Given the description of an element on the screen output the (x, y) to click on. 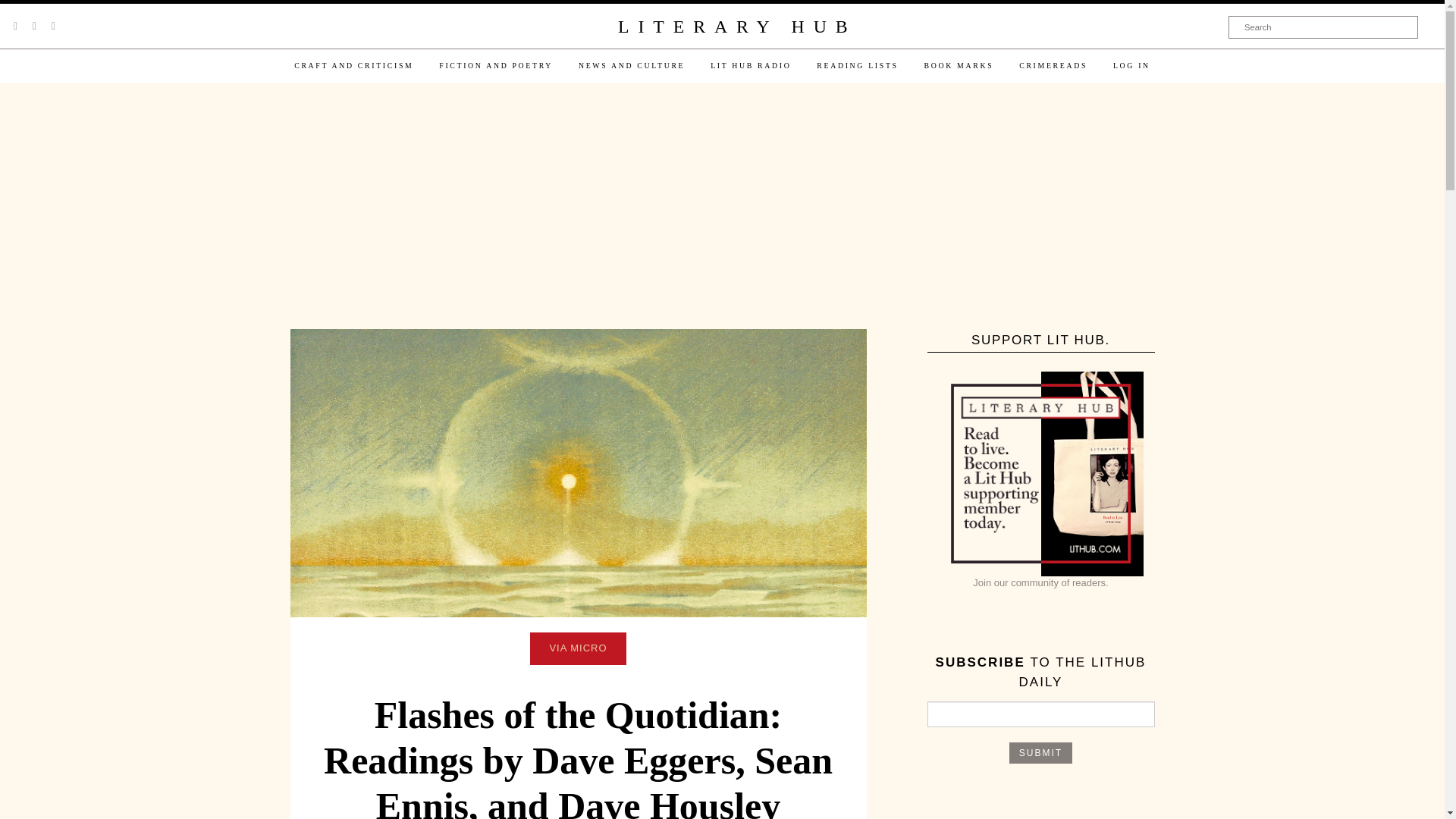
CRAFT AND CRITICISM (353, 65)
NEWS AND CULTURE (631, 65)
LITERARY HUB (736, 26)
Search (1323, 26)
FICTION AND POETRY (496, 65)
